Given the description of an element on the screen output the (x, y) to click on. 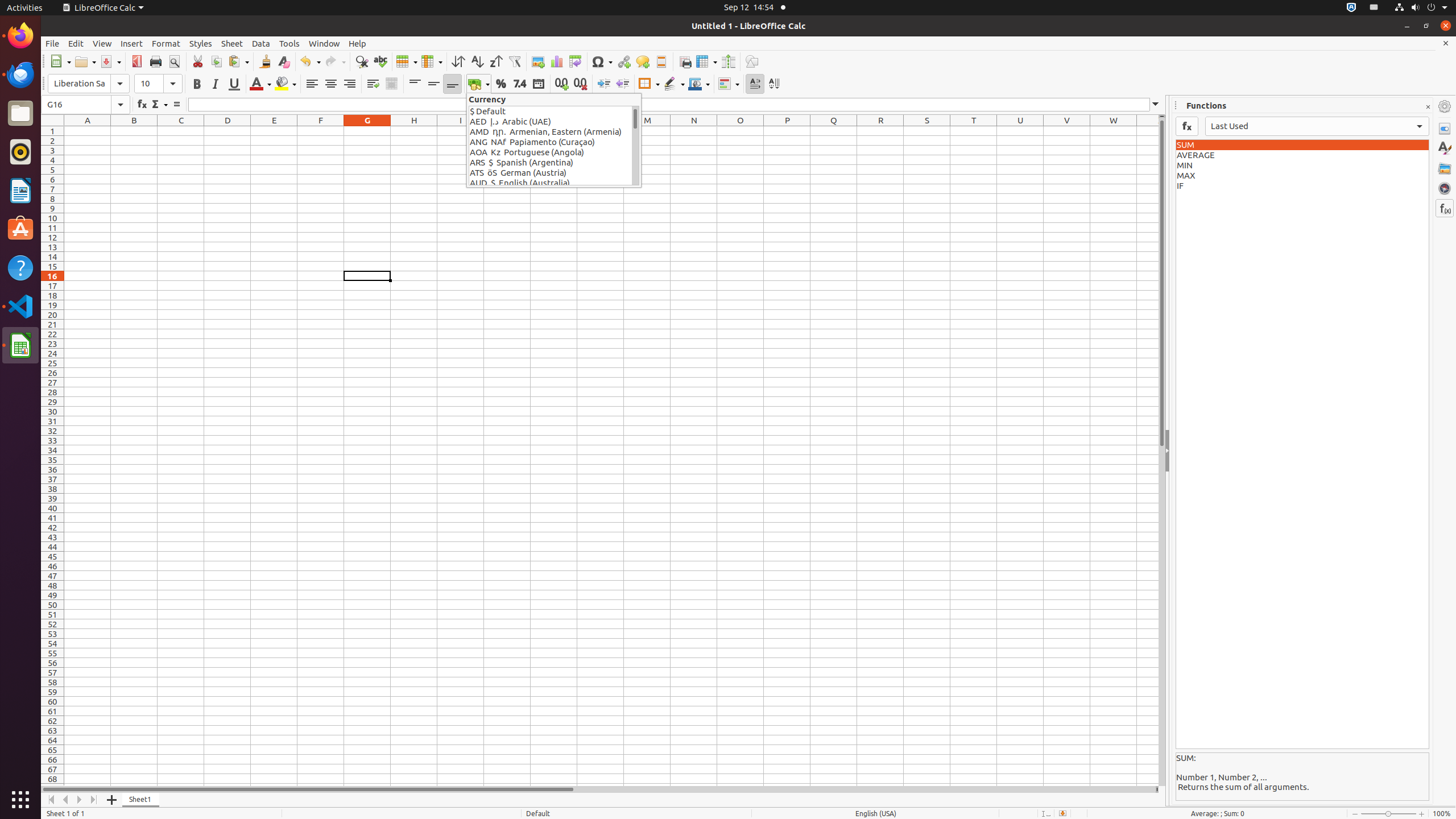
Move To Home Element type: push-button (51, 799)
View Element type: menu (102, 43)
Redo Element type: push-button (334, 61)
G1 Element type: table-cell (367, 130)
Rhythmbox Element type: push-button (20, 151)
